Given the description of an element on the screen output the (x, y) to click on. 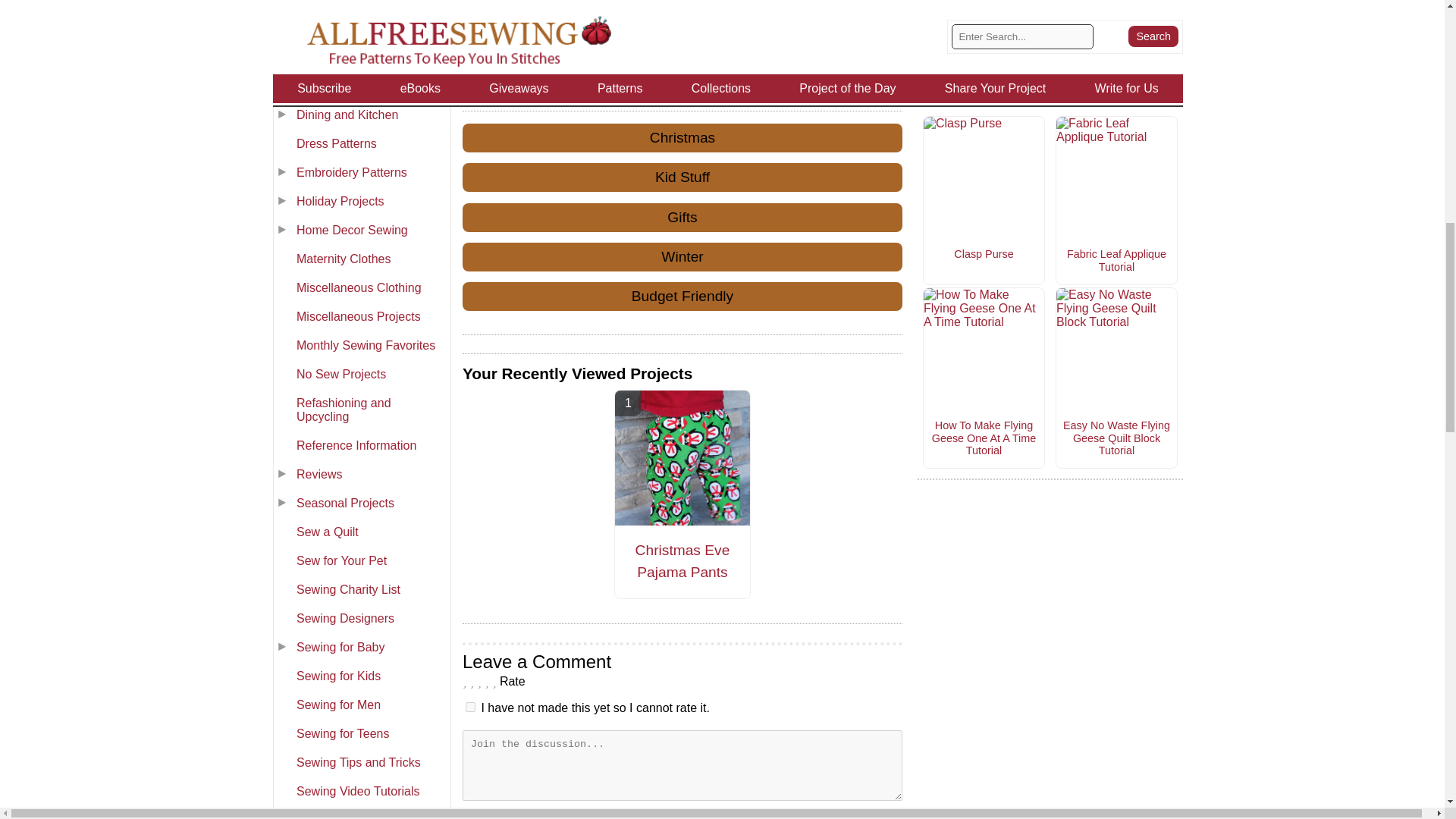
Submit (681, 815)
1 (470, 706)
Facebook (682, 3)
Email (829, 3)
